Given the description of an element on the screen output the (x, y) to click on. 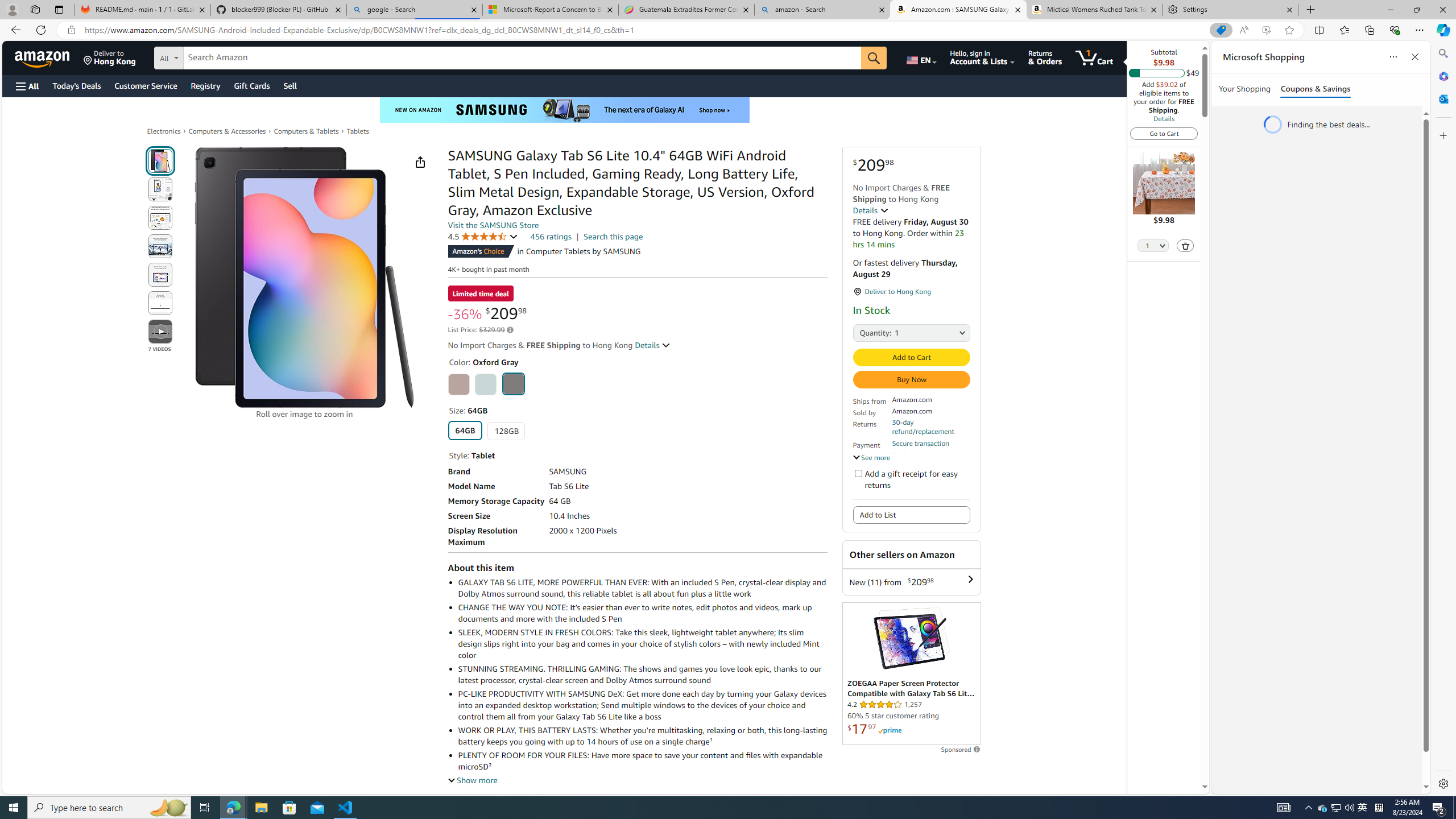
Share (419, 161)
Tablets (357, 131)
64GB (464, 429)
Quantity: (863, 331)
Mint (486, 384)
Electronics (163, 130)
Customer Service (145, 85)
Computers & Tablets (306, 131)
4.5 4.5 out of 5 stars (482, 236)
Computers & Accessories (226, 130)
